Given the description of an element on the screen output the (x, y) to click on. 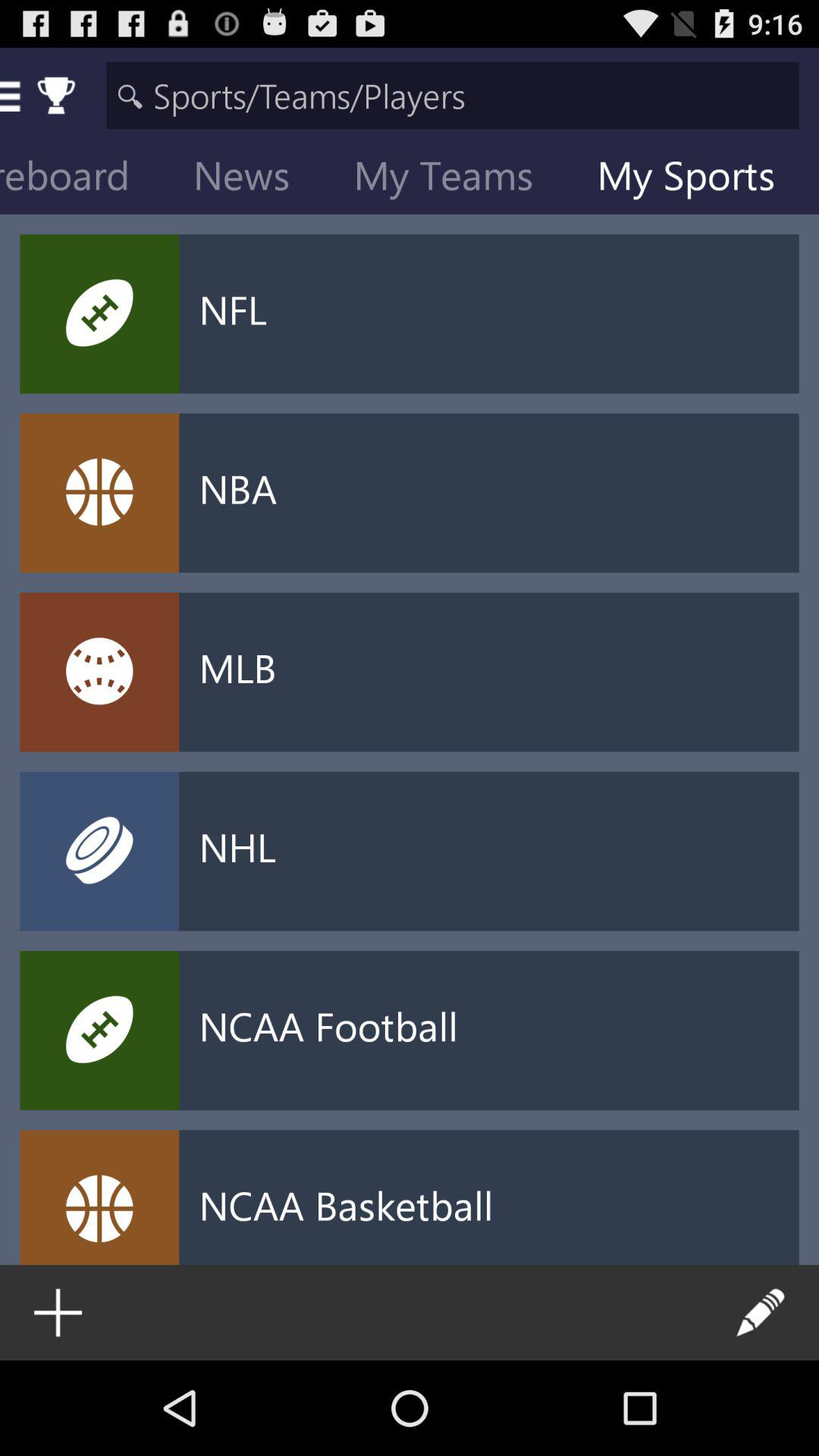
search bar (452, 95)
